Given the description of an element on the screen output the (x, y) to click on. 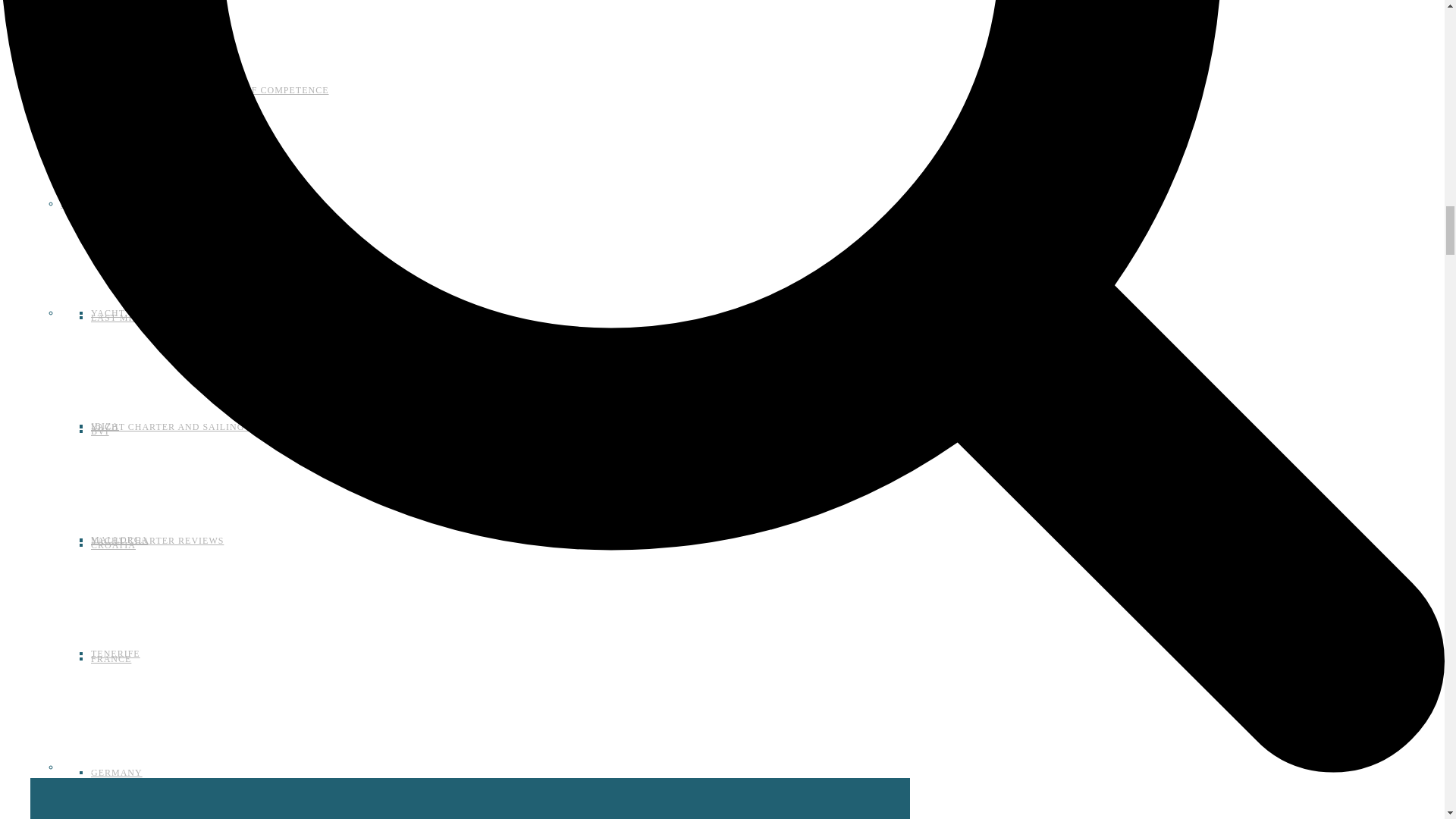
YACHT CHARTER AND SAILING NEWS (183, 426)
CROATIA (112, 544)
SARDINIA (114, 85)
LAST MINUTE SAILING (117, 204)
BVI (99, 430)
INTERNATIONAL CERTIFICATE OF COMPETENCE (209, 90)
IBIZA (104, 425)
CROATIA (112, 544)
LUXURY YACHT CHARTER (154, 199)
TENERIFE (114, 653)
BVI (99, 430)
MONTHLY SAILING (137, 85)
GERMANY (116, 772)
LAST MINUTE SAILING (146, 317)
AMALFI COAST (128, 199)
